Given the description of an element on the screen output the (x, y) to click on. 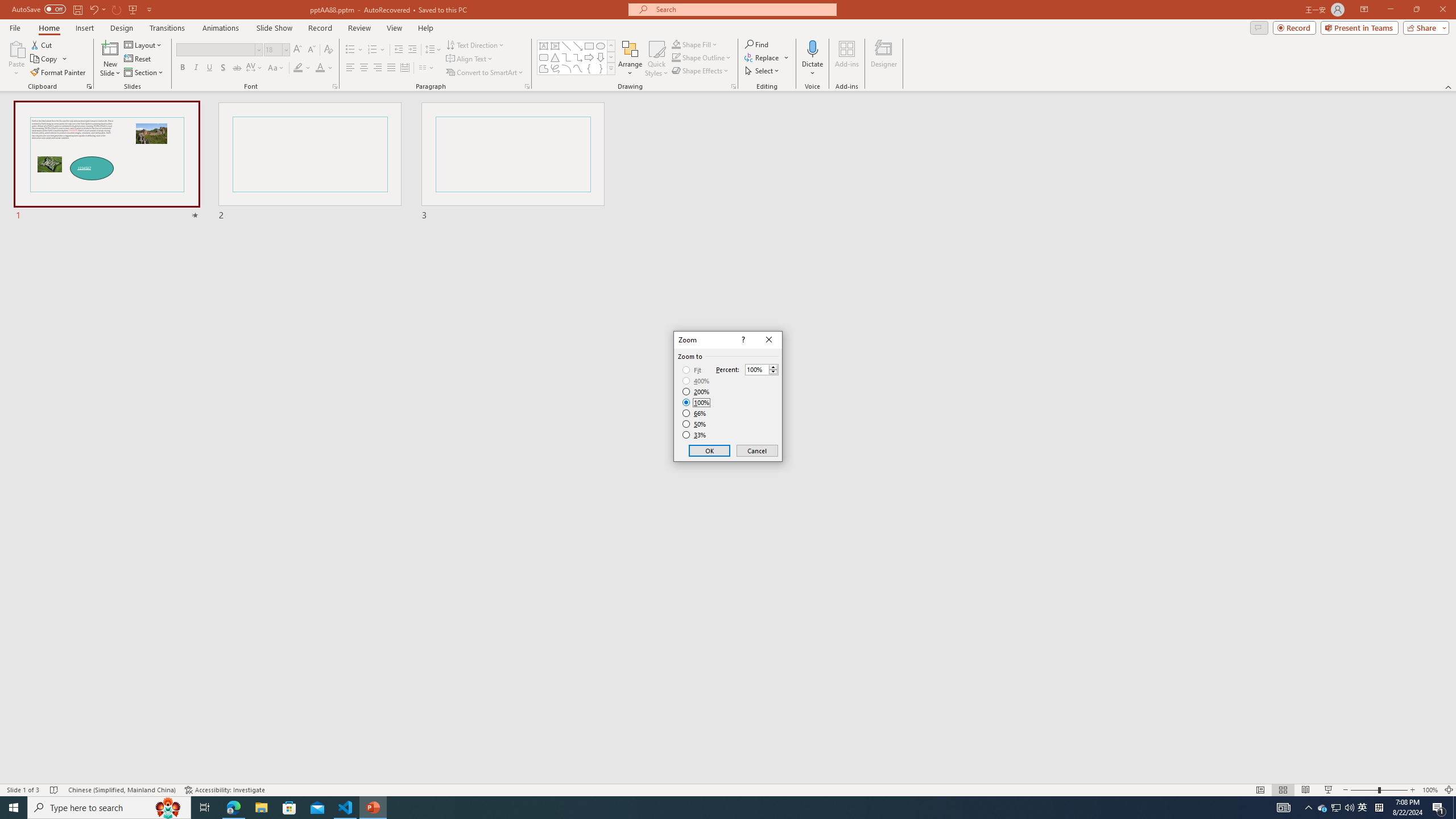
Percent (756, 369)
